Given the description of an element on the screen output the (x, y) to click on. 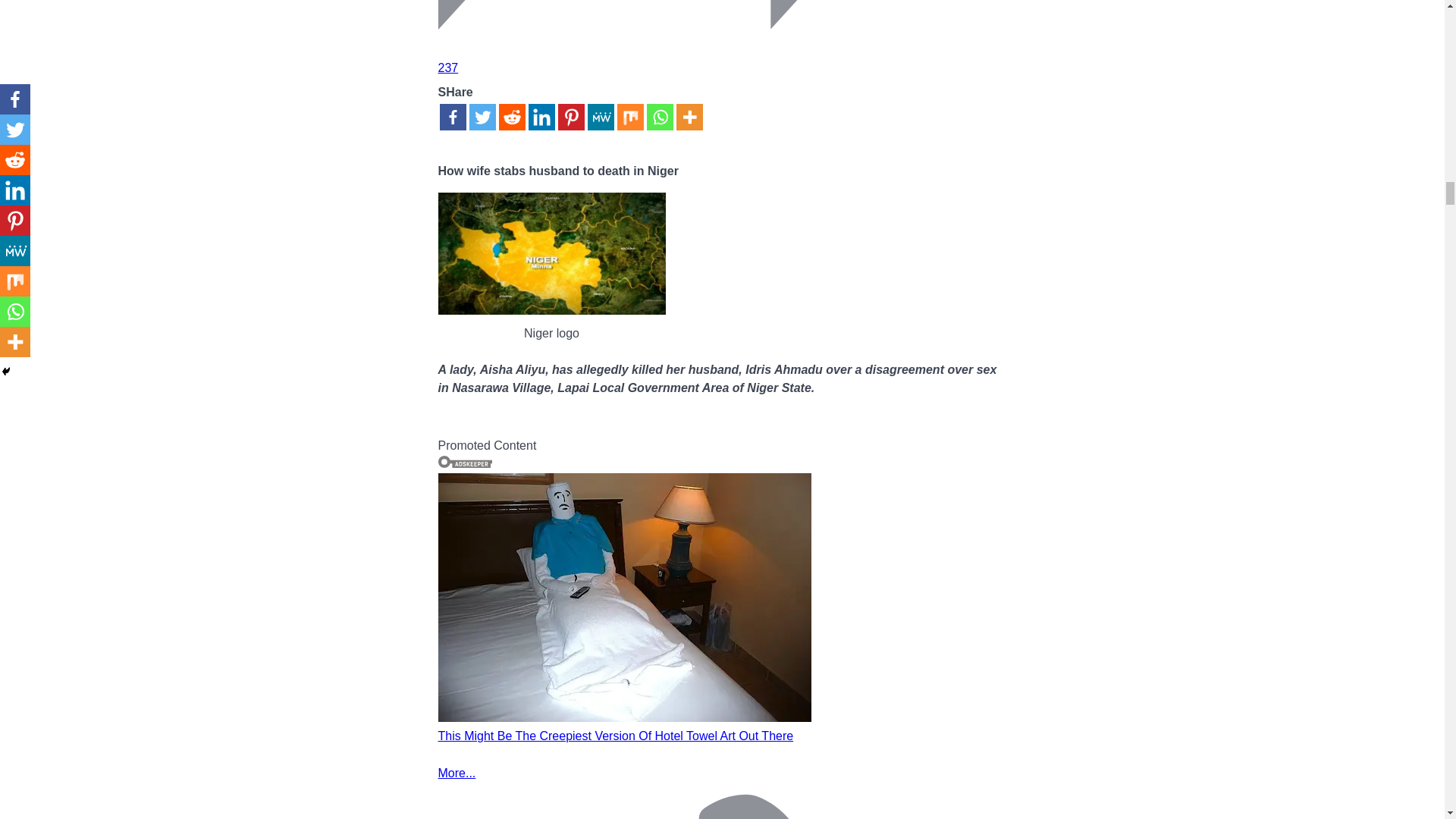
Pinterest (571, 117)
Linkedin (540, 117)
MeWe (599, 117)
More (690, 117)
Twitter (481, 117)
Mix (630, 117)
Whatsapp (659, 117)
Facebook (452, 117)
Reddit (512, 117)
